Given the description of an element on the screen output the (x, y) to click on. 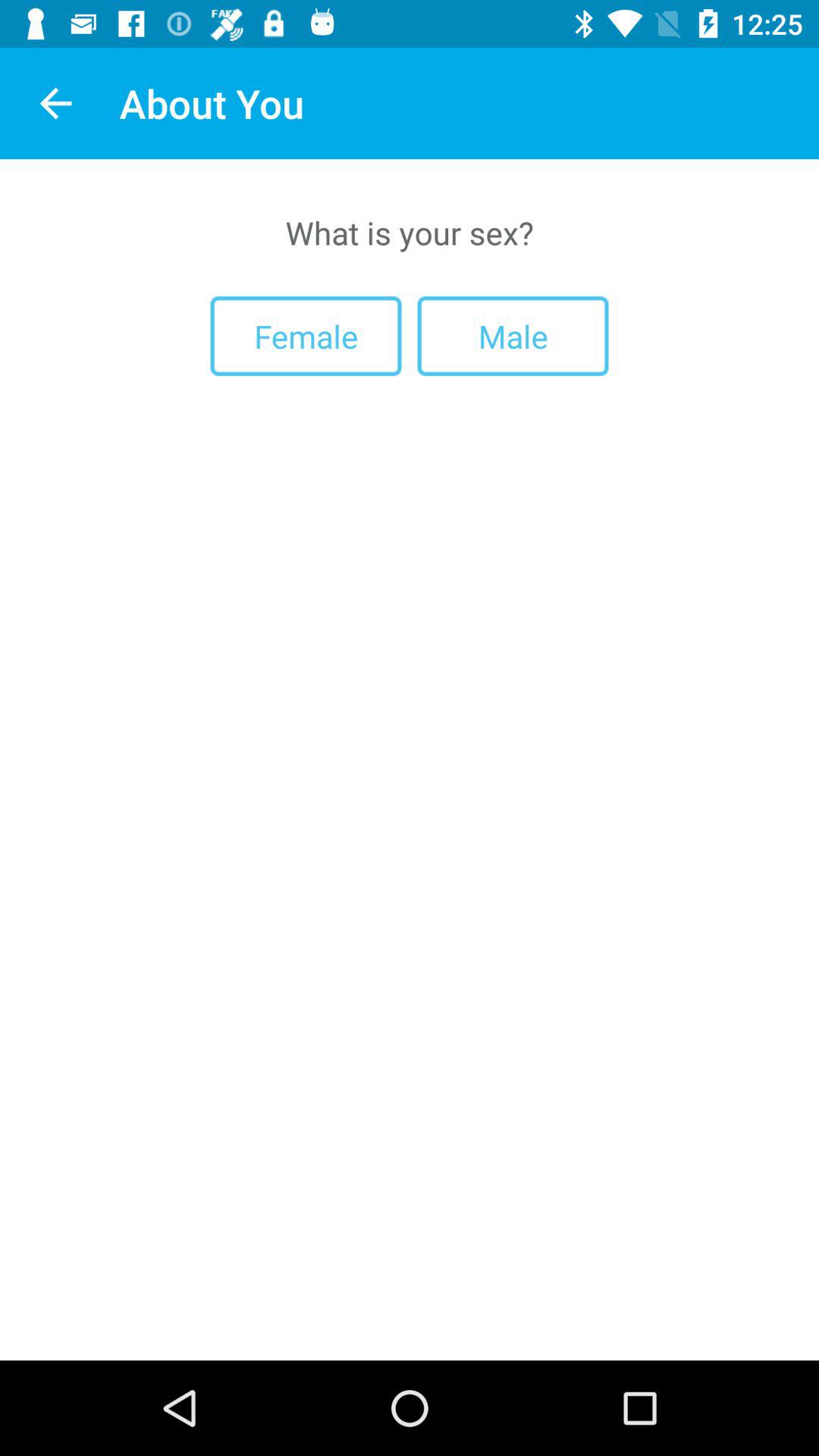
click item below the what is your (512, 335)
